Given the description of an element on the screen output the (x, y) to click on. 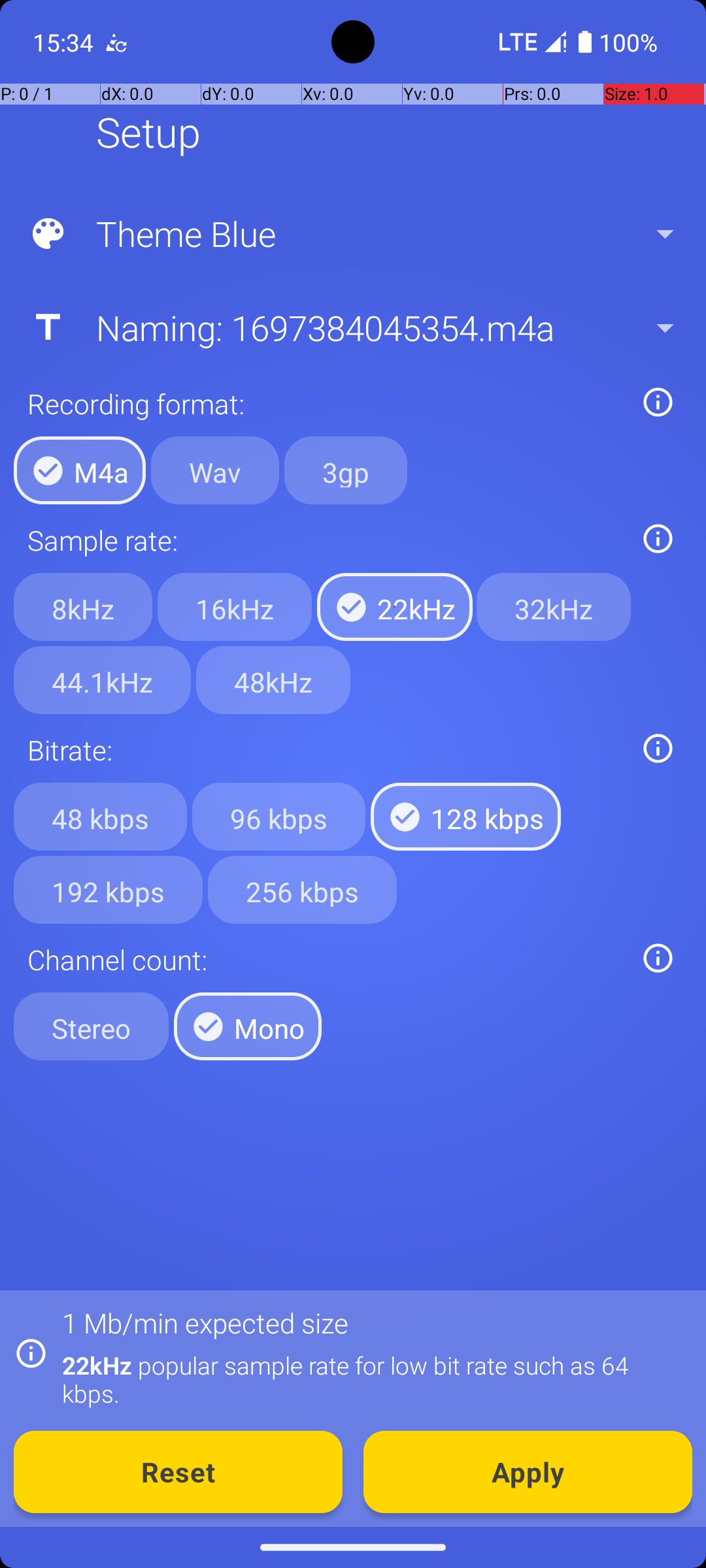
22kHz popular sample rate for low bit rate such as 64 kbps. Element type: android.widget.TextView (370, 1378)
Naming: 1697384045354.m4a Element type: android.widget.TextView (352, 327)
